Given the description of an element on the screen output the (x, y) to click on. 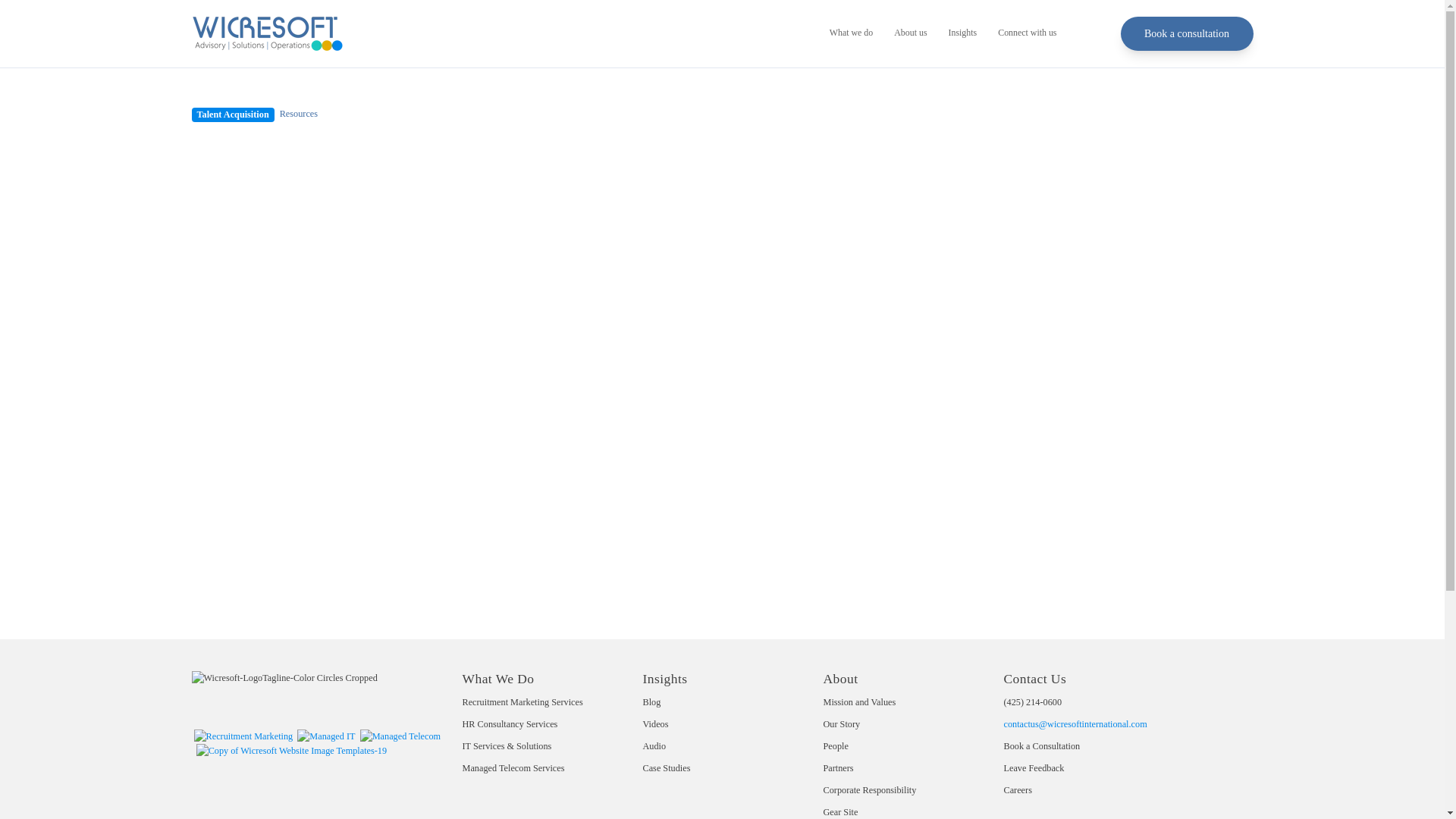
Insights (962, 33)
What we do (850, 33)
About us (910, 33)
Wicresoft-Logo (266, 33)
